Given the description of an element on the screen output the (x, y) to click on. 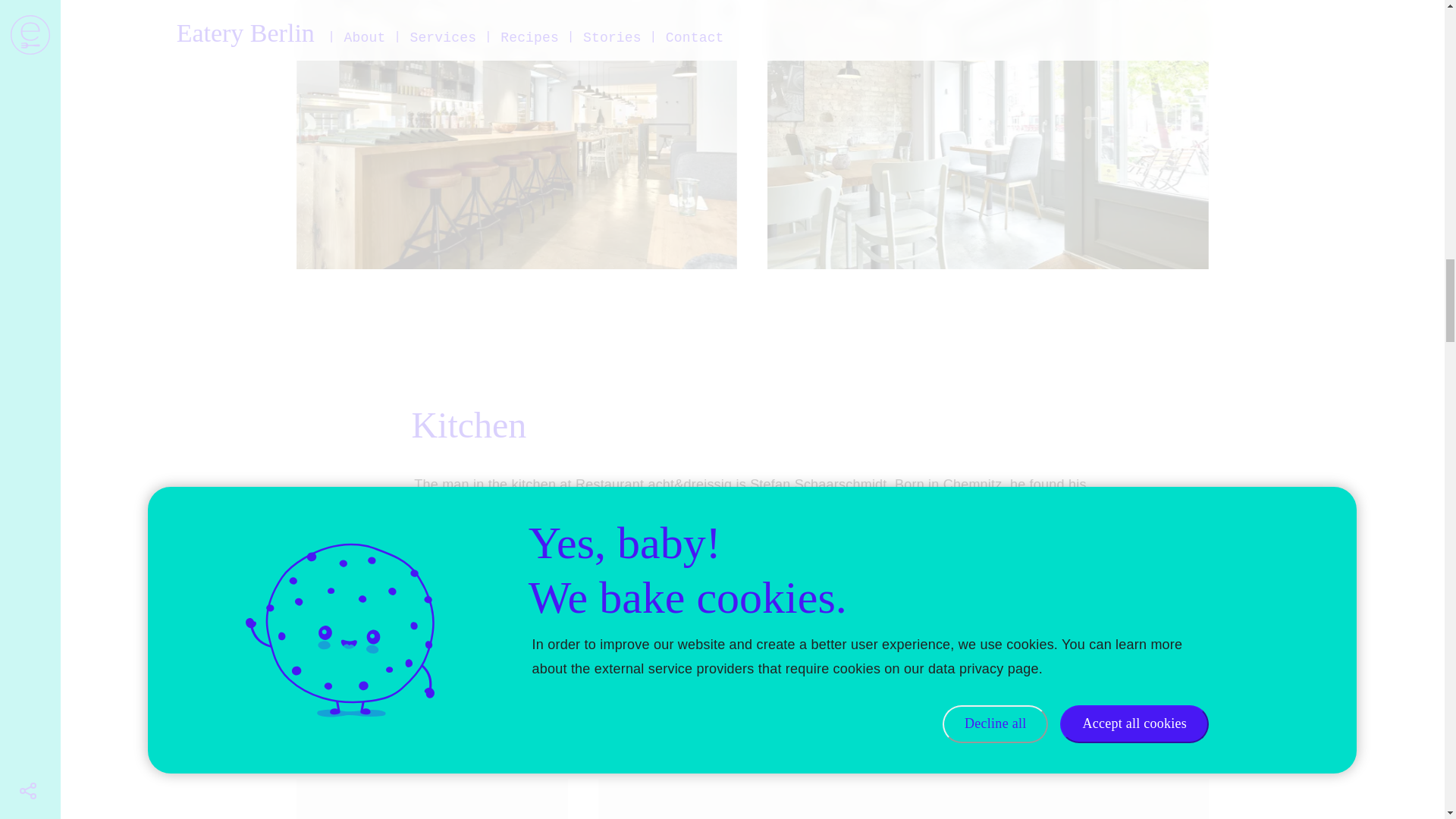
interior-of-restaurant-achtunddreissig-berlin (517, 134)
interior-of-restaurant-achtunddreissig-berlin (987, 134)
